Given the description of an element on the screen output the (x, y) to click on. 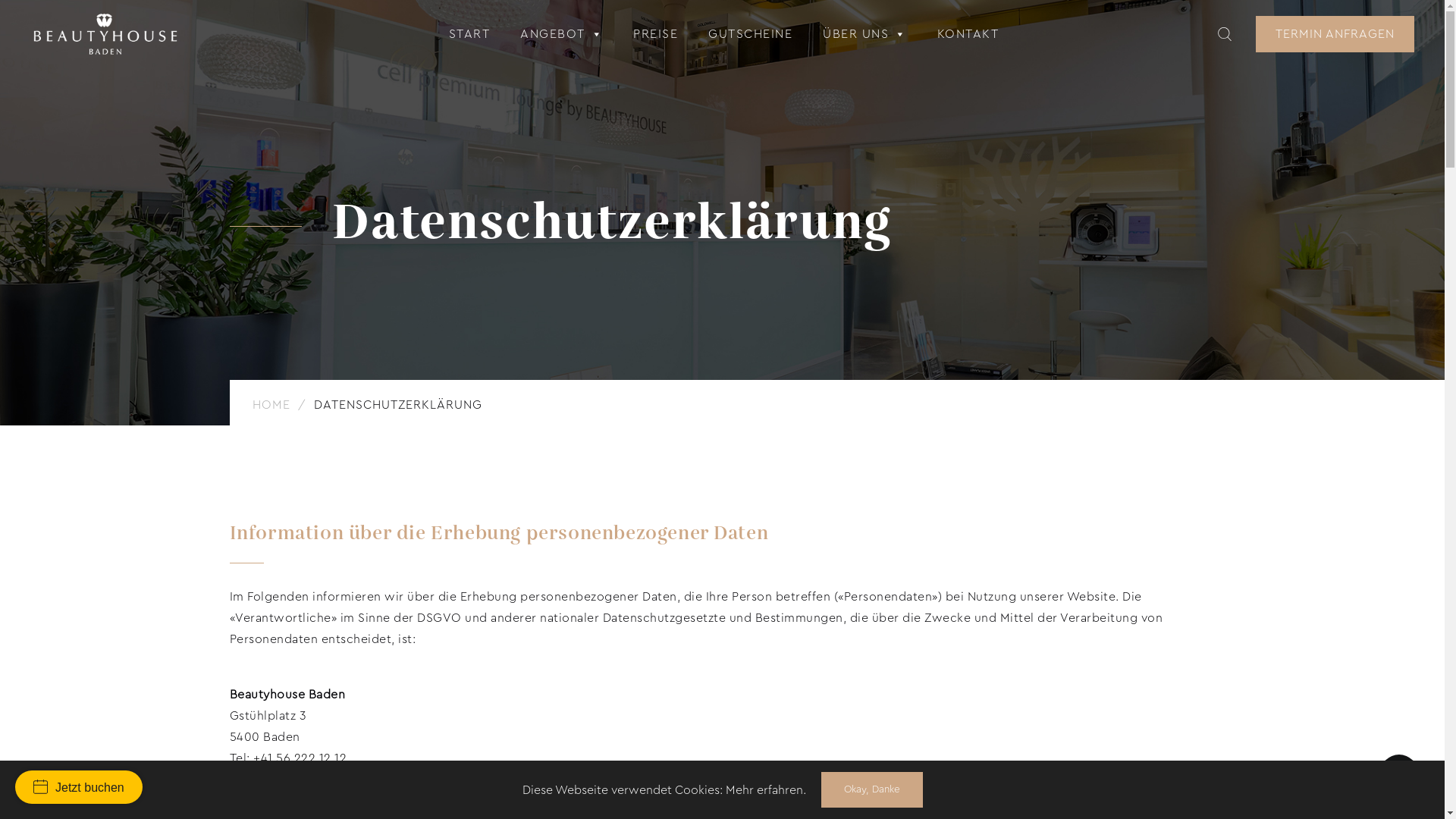
Okay, Danke Element type: text (871, 789)
PREISE Element type: text (655, 33)
GUTSCHEINE Element type: text (750, 33)
TERMIN ANFRAGEN Element type: text (1334, 33)
ANGEBOT Element type: text (561, 33)
+41 56 222 12 12 Element type: text (299, 758)
KONTAKT Element type: text (968, 33)
HOME  Element type: text (272, 404)
START Element type: text (469, 33)
Mehr erfahren. Element type: text (764, 790)
Jetzt buchen Element type: text (78, 786)
info@beautyhouse-baden.ch Element type: text (355, 779)
